Given the description of an element on the screen output the (x, y) to click on. 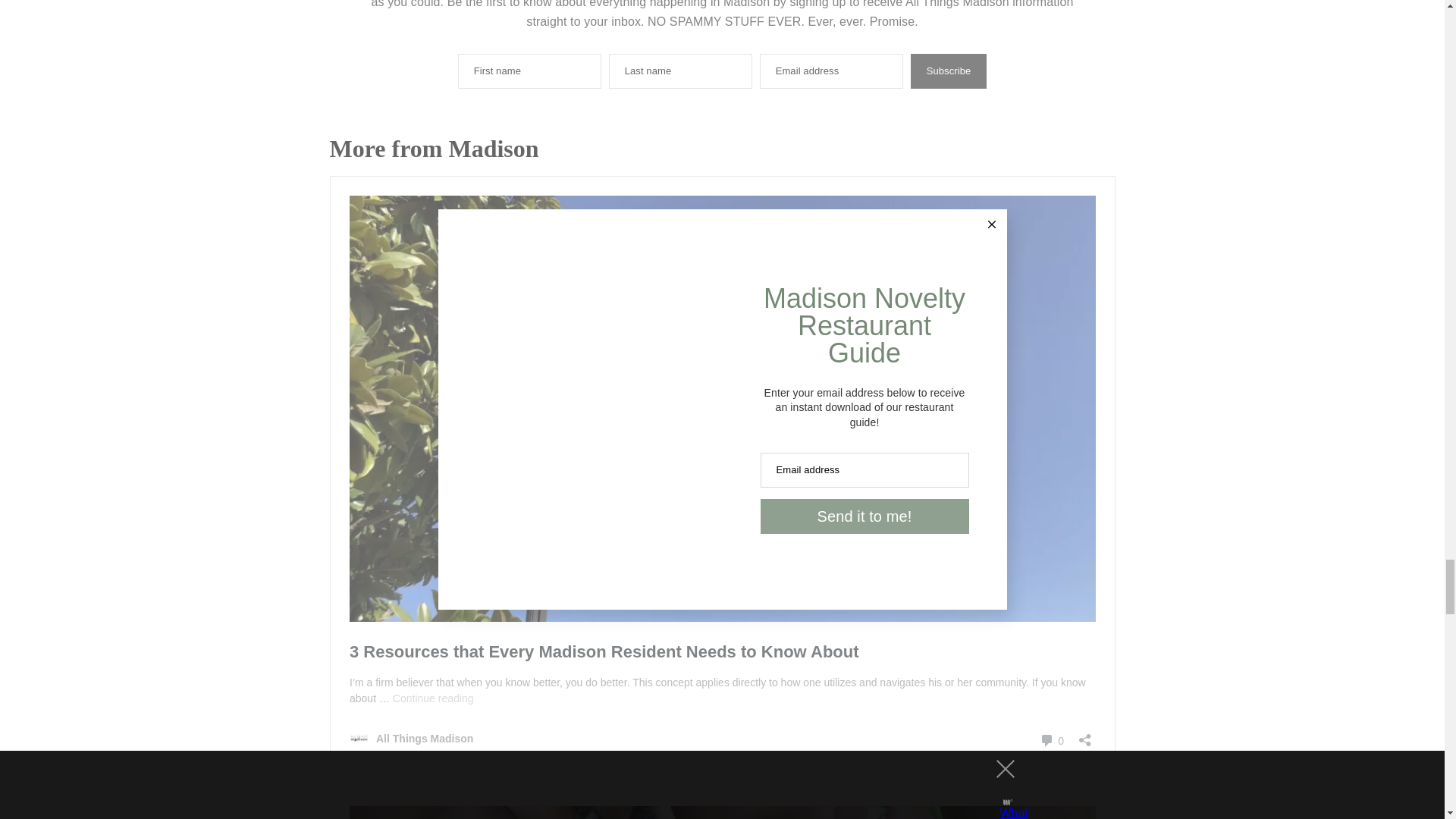
Subscribe (949, 71)
